Given the description of an element on the screen output the (x, y) to click on. 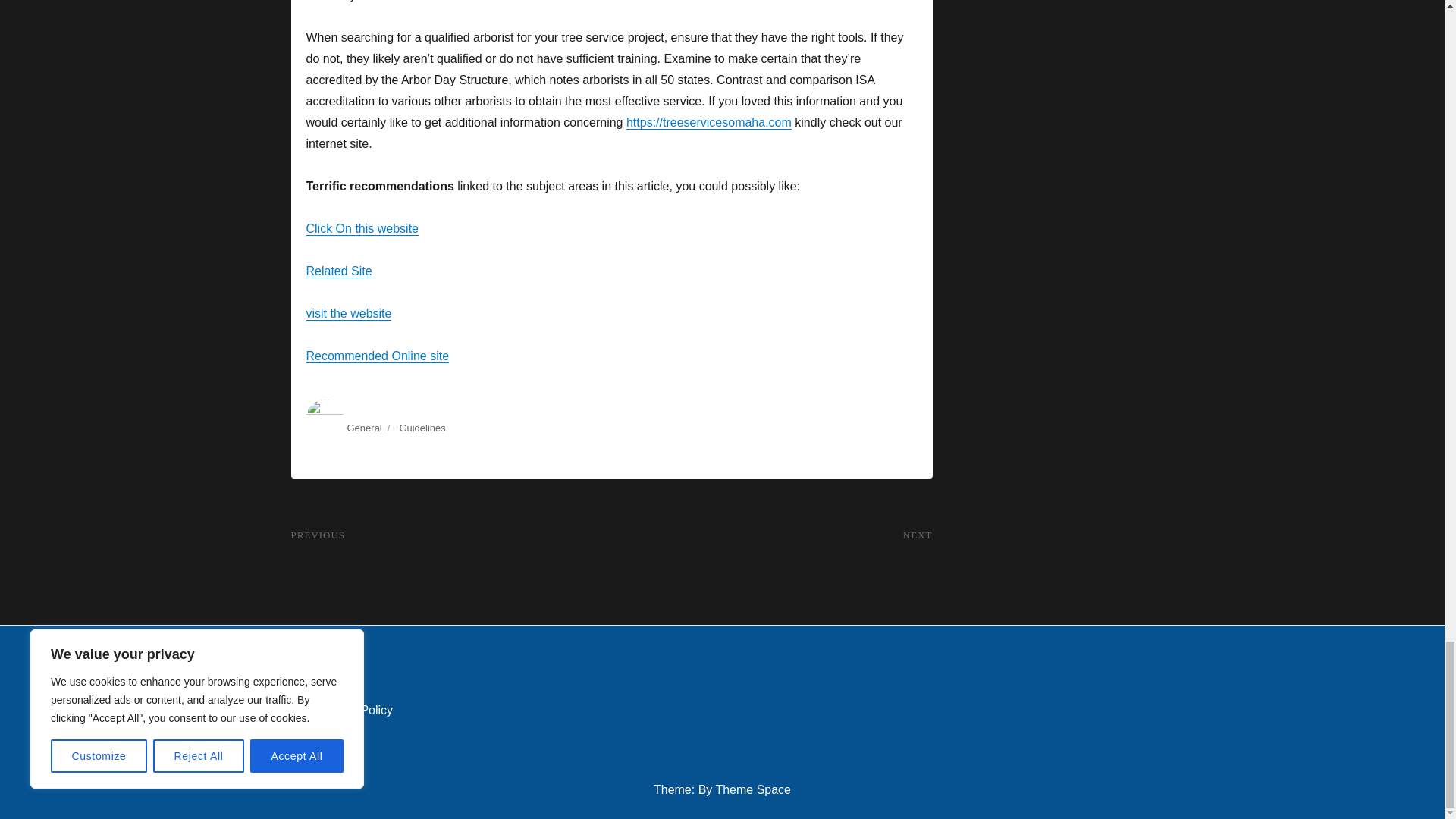
visit the website (348, 313)
Guidelines (421, 428)
Recommended Online site (377, 355)
General (364, 428)
Related Site (338, 270)
Click On this website (362, 228)
